Given the description of an element on the screen output the (x, y) to click on. 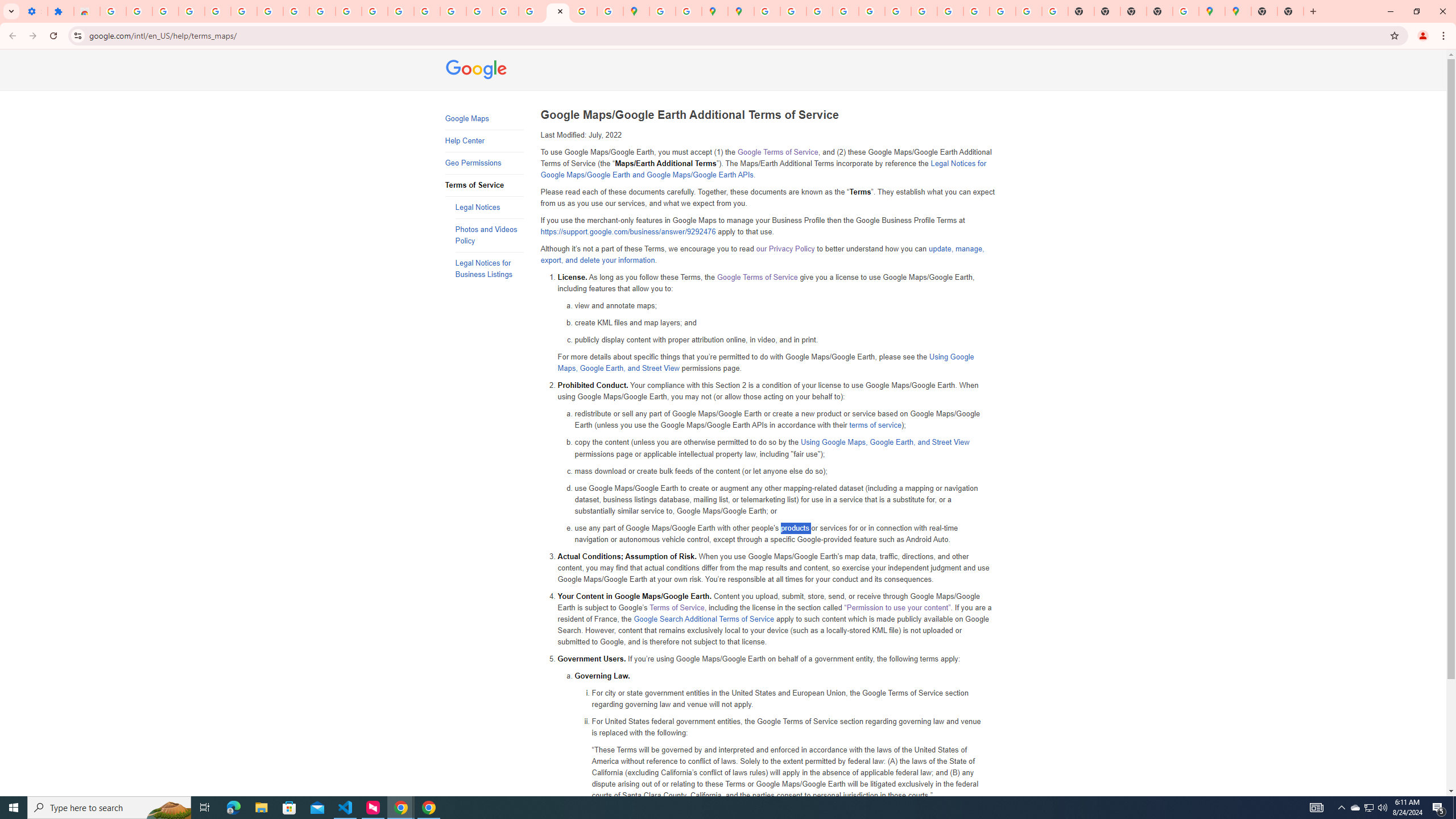
Sign in - Google Accounts (217, 11)
YouTube (348, 11)
New Tab (1159, 11)
Privacy Help Center - Policies Help (818, 11)
Use Google Maps in Space - Google Maps Help (1185, 11)
